Given the description of an element on the screen output the (x, y) to click on. 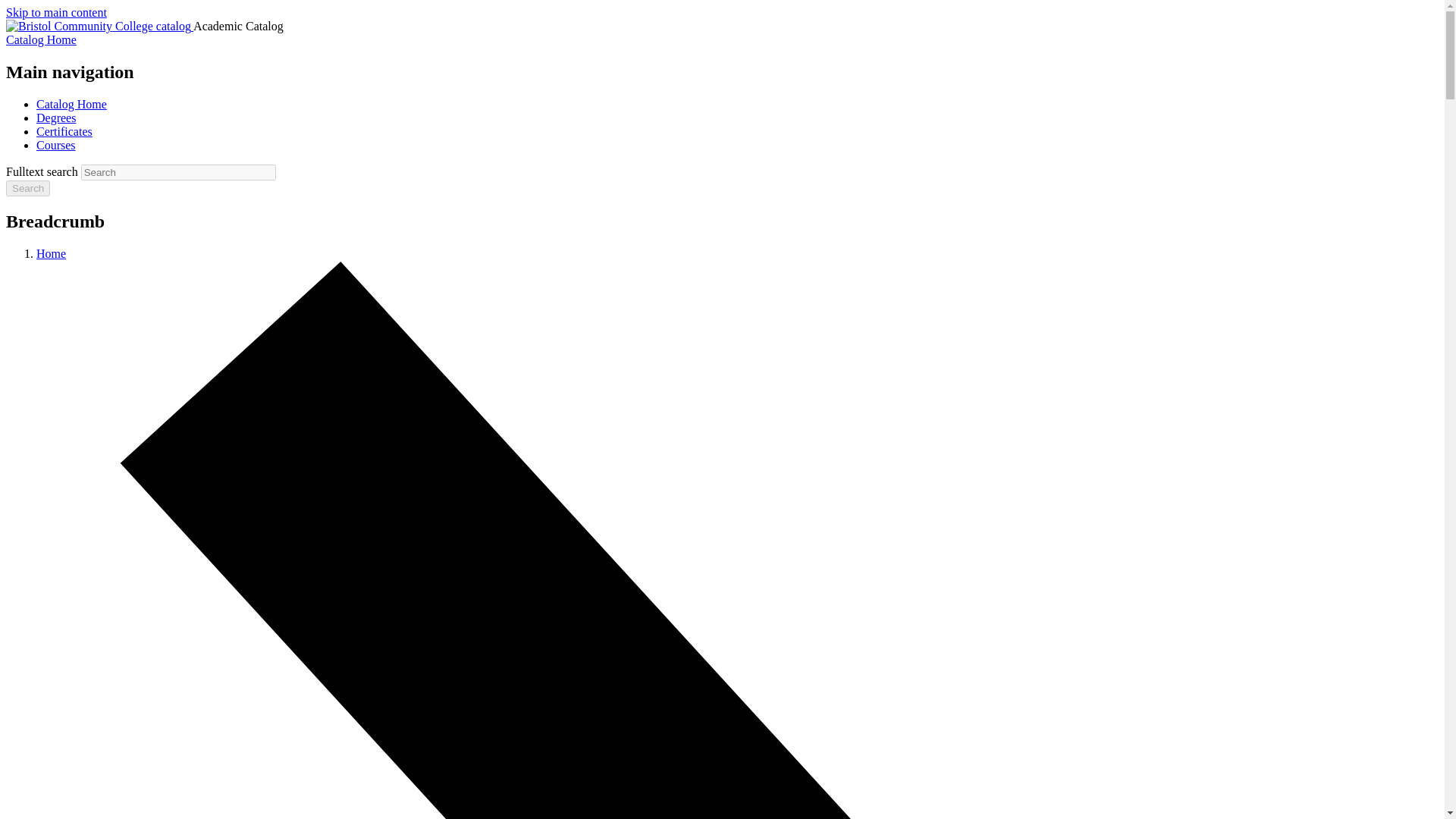
Catalog Home (41, 39)
Degrees (55, 117)
Search (27, 188)
Search (27, 188)
Certificates (64, 131)
Courses (55, 144)
Catalog Home (71, 103)
Skip to main content (55, 11)
